Given the description of an element on the screen output the (x, y) to click on. 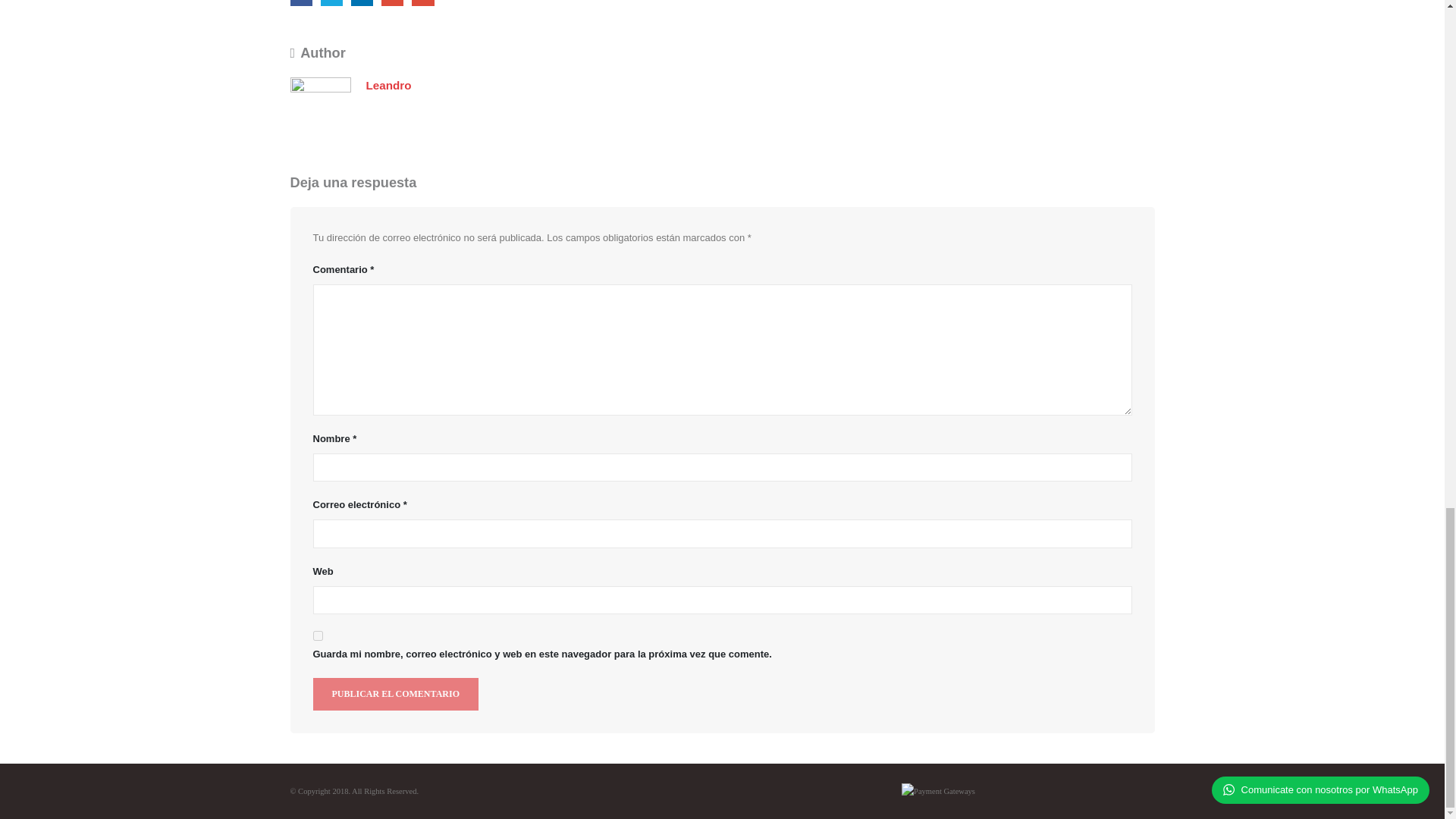
Publicar el comentario (395, 694)
Publicar el comentario (395, 694)
Entradas de Leandro (387, 84)
Twitter (331, 2)
Email (422, 2)
Leandro (387, 84)
Facebook (300, 2)
yes (317, 635)
LinkedIn (361, 2)
